Given the description of an element on the screen output the (x, y) to click on. 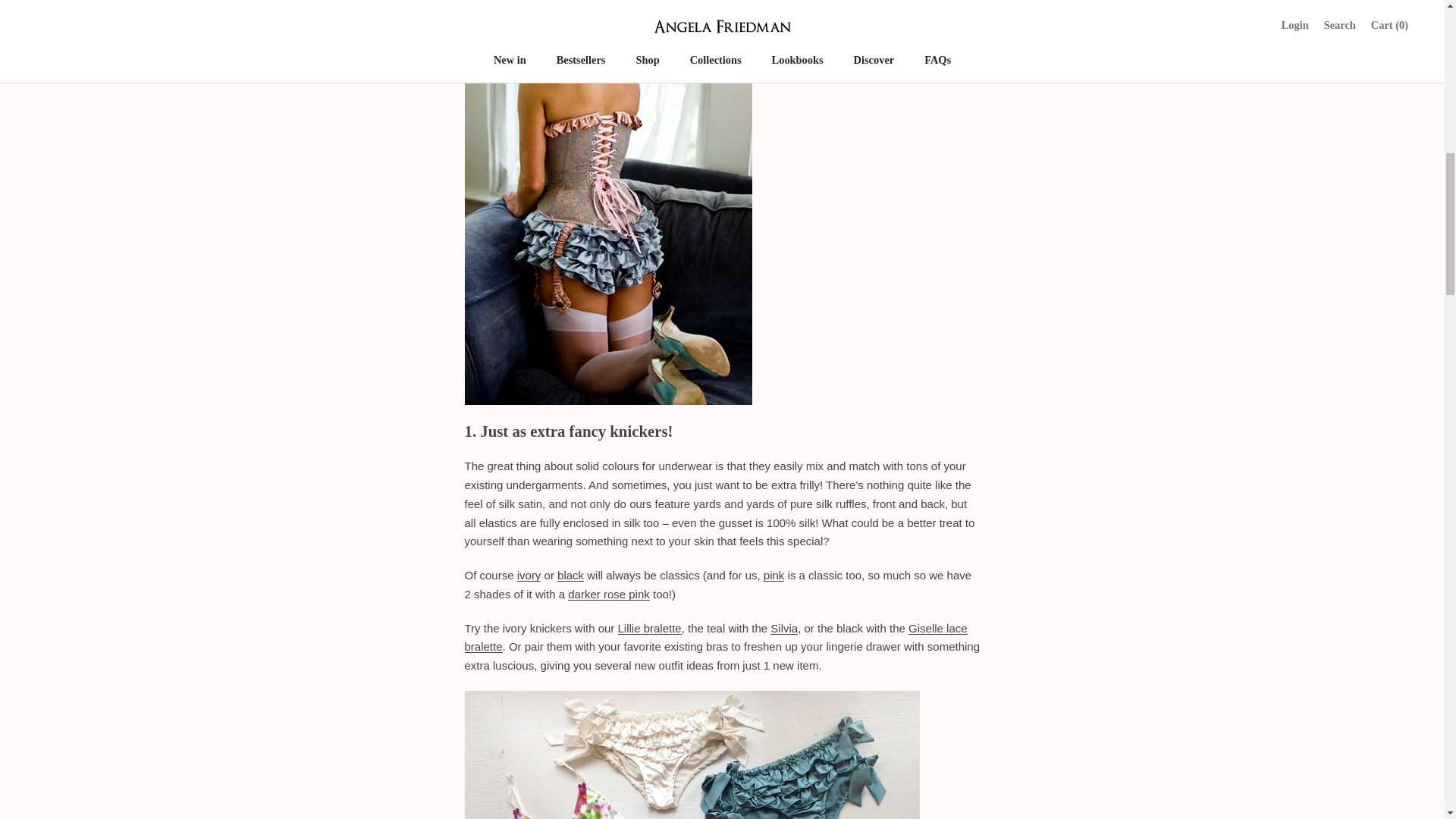
Silvia teal lace bralette (783, 627)
Giselle black lace bralette (715, 637)
Pink silk ruffle knickers (773, 574)
Teal silk ruffle panties (607, 175)
Lillie ivory silk bralette (649, 627)
Black silk ruffled panties (570, 574)
Dark pink silk frilly panties (608, 594)
Ivory silk ruffled panties (528, 574)
